Given the description of an element on the screen output the (x, y) to click on. 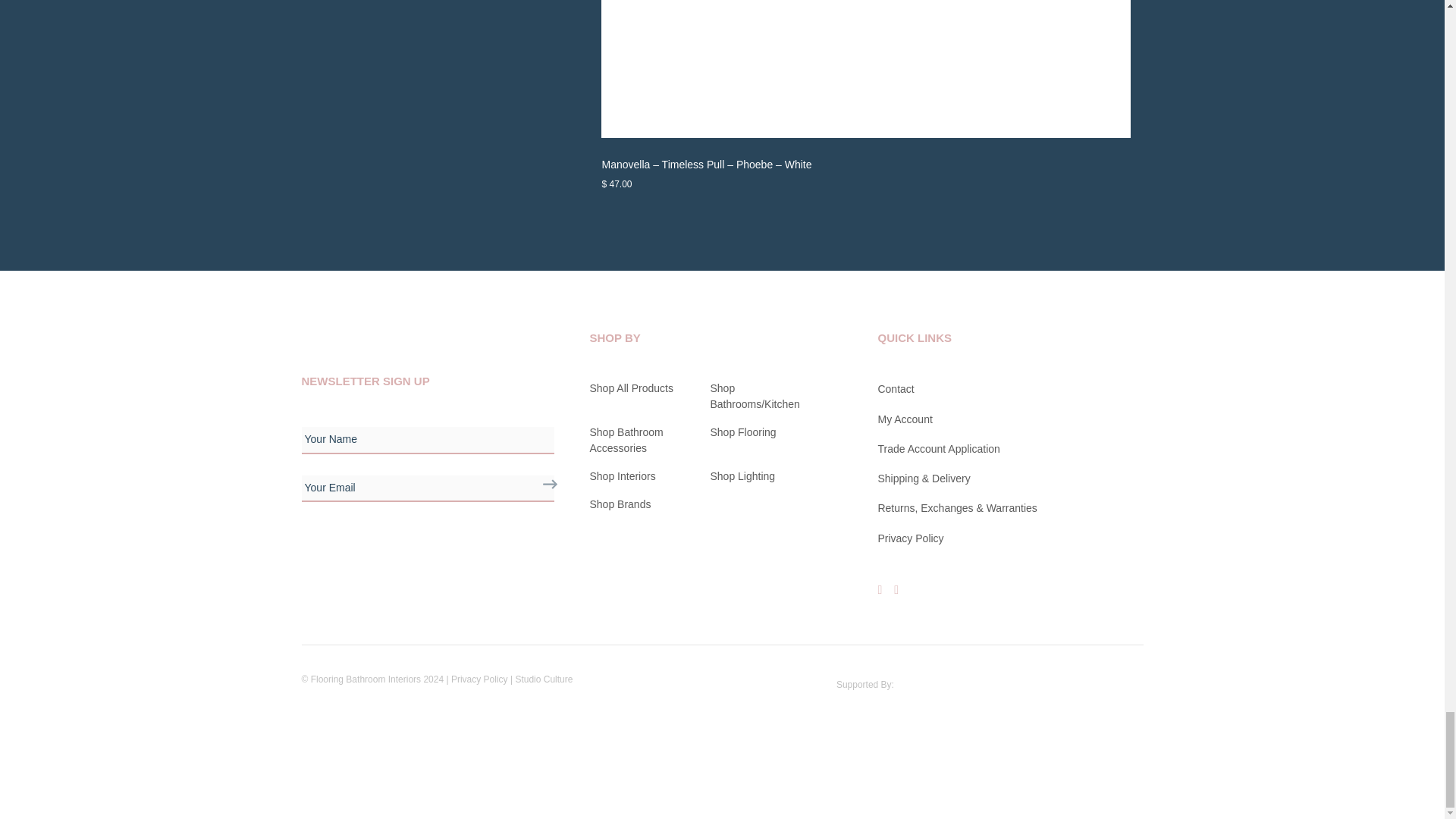
Flooring Bathrooms Interiors (339, 328)
